Given the description of an element on the screen output the (x, y) to click on. 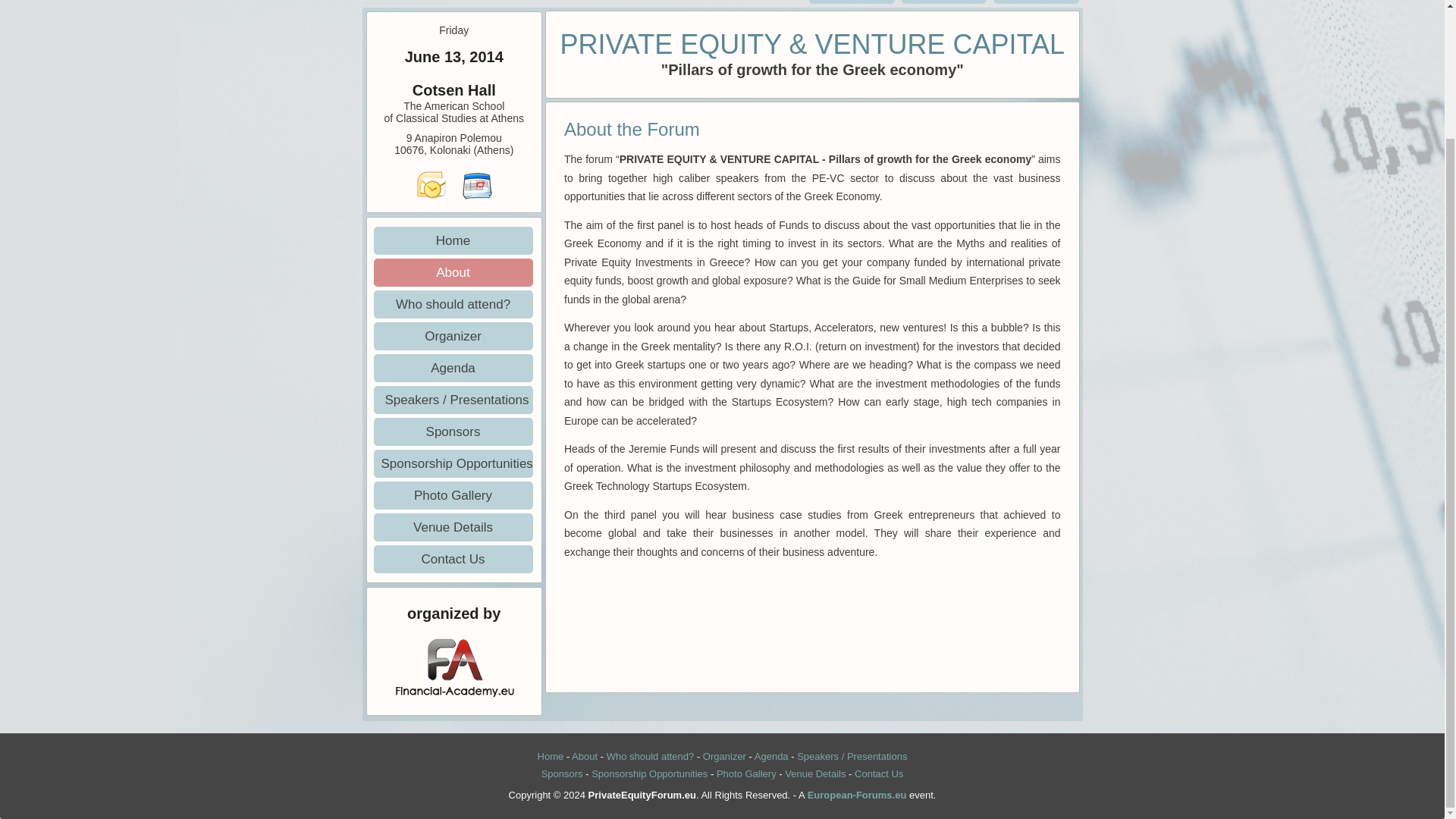
Photo Gallery (746, 773)
Who should attend? (452, 304)
Sponsors (452, 431)
Home (452, 240)
Add to Google Calendar (476, 183)
Agenda (452, 367)
Add to Outlook Calendar (431, 183)
Venue Details (452, 527)
Home (550, 756)
Sponsorship Opportunities (452, 463)
Who should attend? (650, 756)
Photo Gallery (452, 495)
Sponsorship Opportunities (649, 773)
About (584, 756)
Organizer (724, 756)
